Given the description of an element on the screen output the (x, y) to click on. 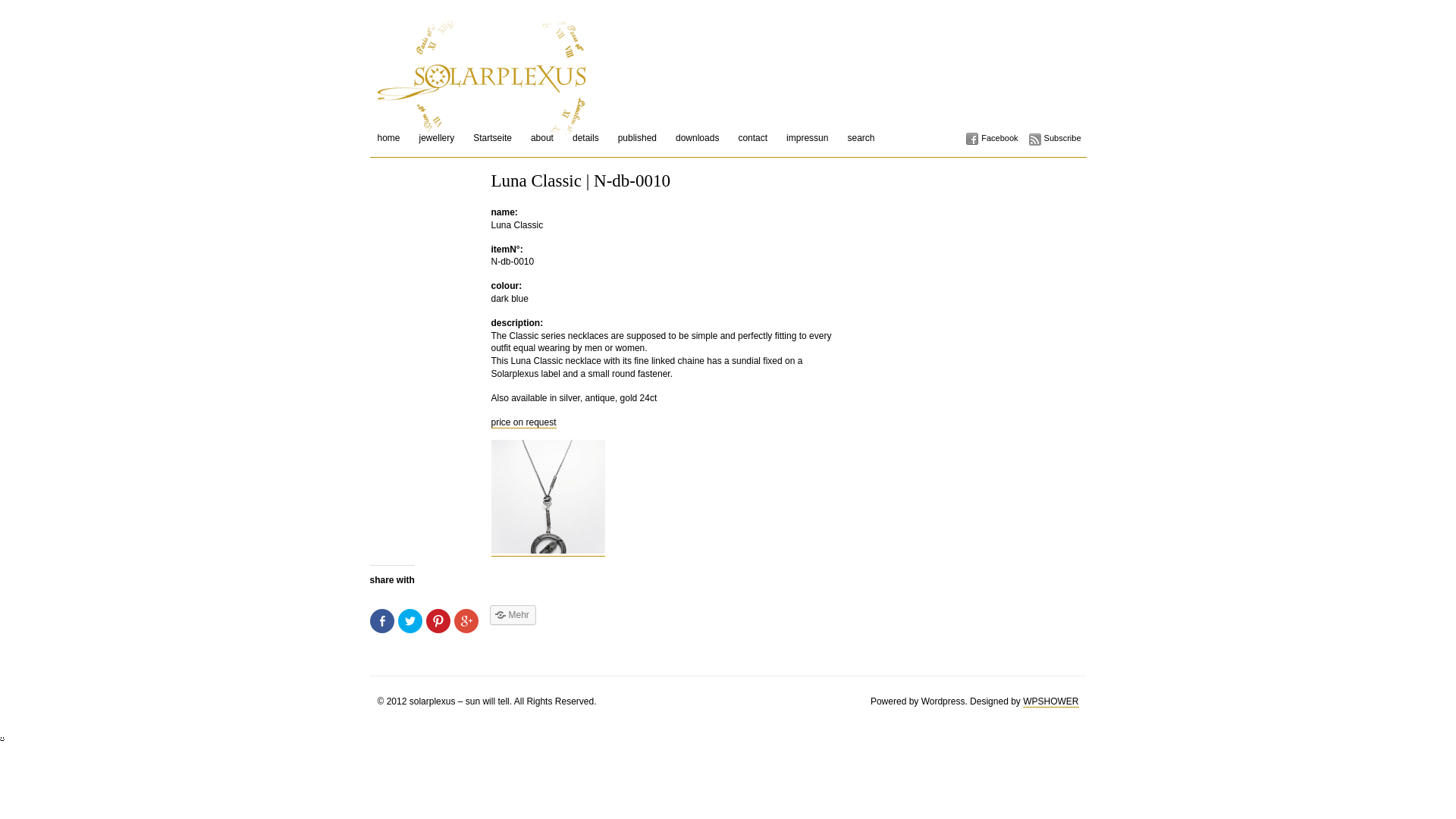
contact Element type: text (752, 137)
Mehr Element type: text (512, 614)
Facebook Element type: text (991, 137)
Subscribe Element type: text (1055, 137)
Startseite Element type: text (492, 137)
home Element type: text (388, 137)
price on request Element type: text (523, 422)
search Element type: text (860, 137)
published Element type: text (637, 137)
WPSHOWER Element type: text (1050, 701)
details Element type: text (585, 137)
downloads Element type: text (696, 137)
impressun Element type: text (807, 137)
jewellery Element type: text (437, 137)
about Element type: text (541, 137)
